Given the description of an element on the screen output the (x, y) to click on. 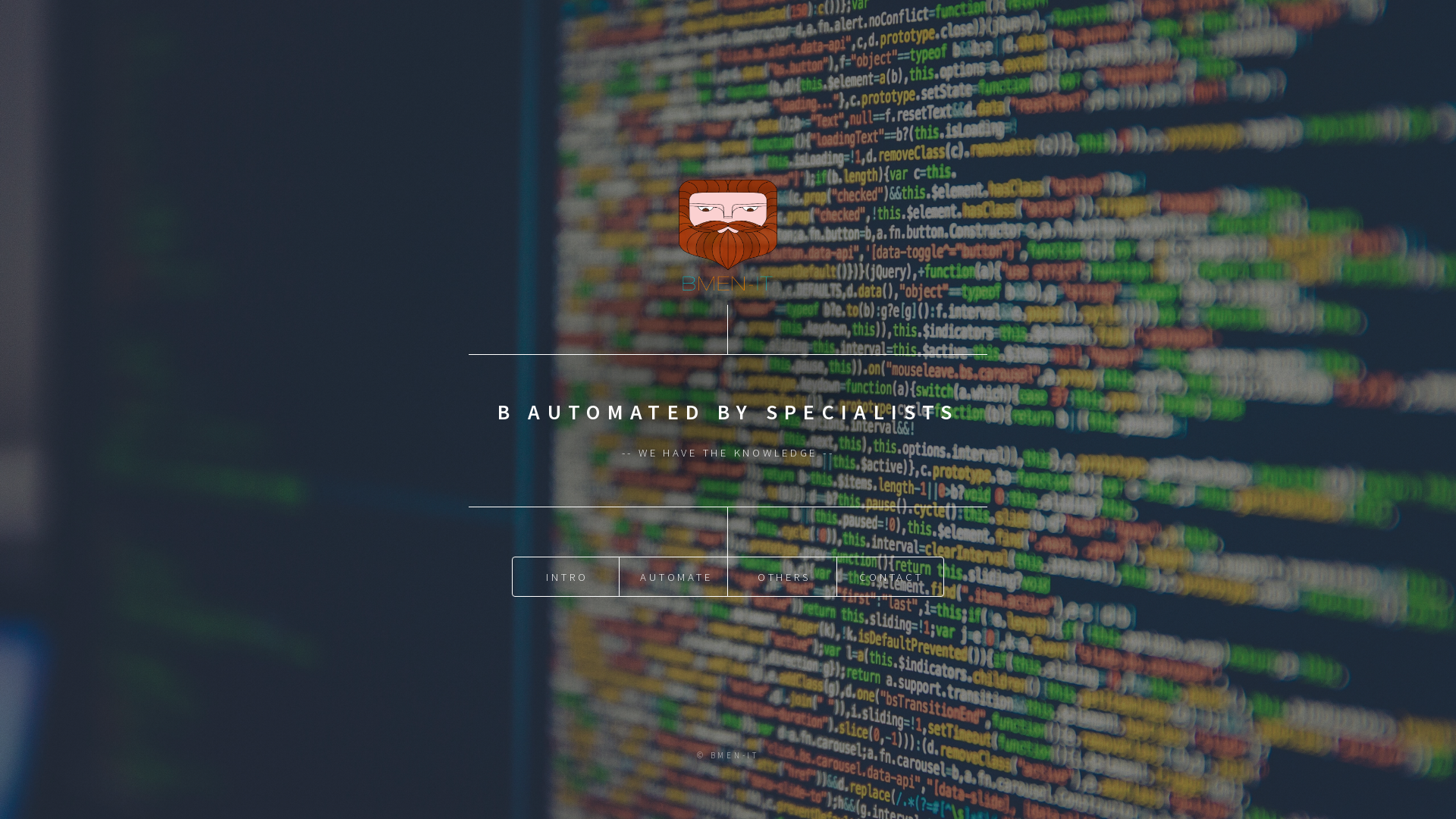
INTRO Element type: text (565, 576)
CONTACT Element type: text (890, 576)
OTHERS Element type: text (783, 576)
AUTOMATE Element type: text (674, 576)
